Given the description of an element on the screen output the (x, y) to click on. 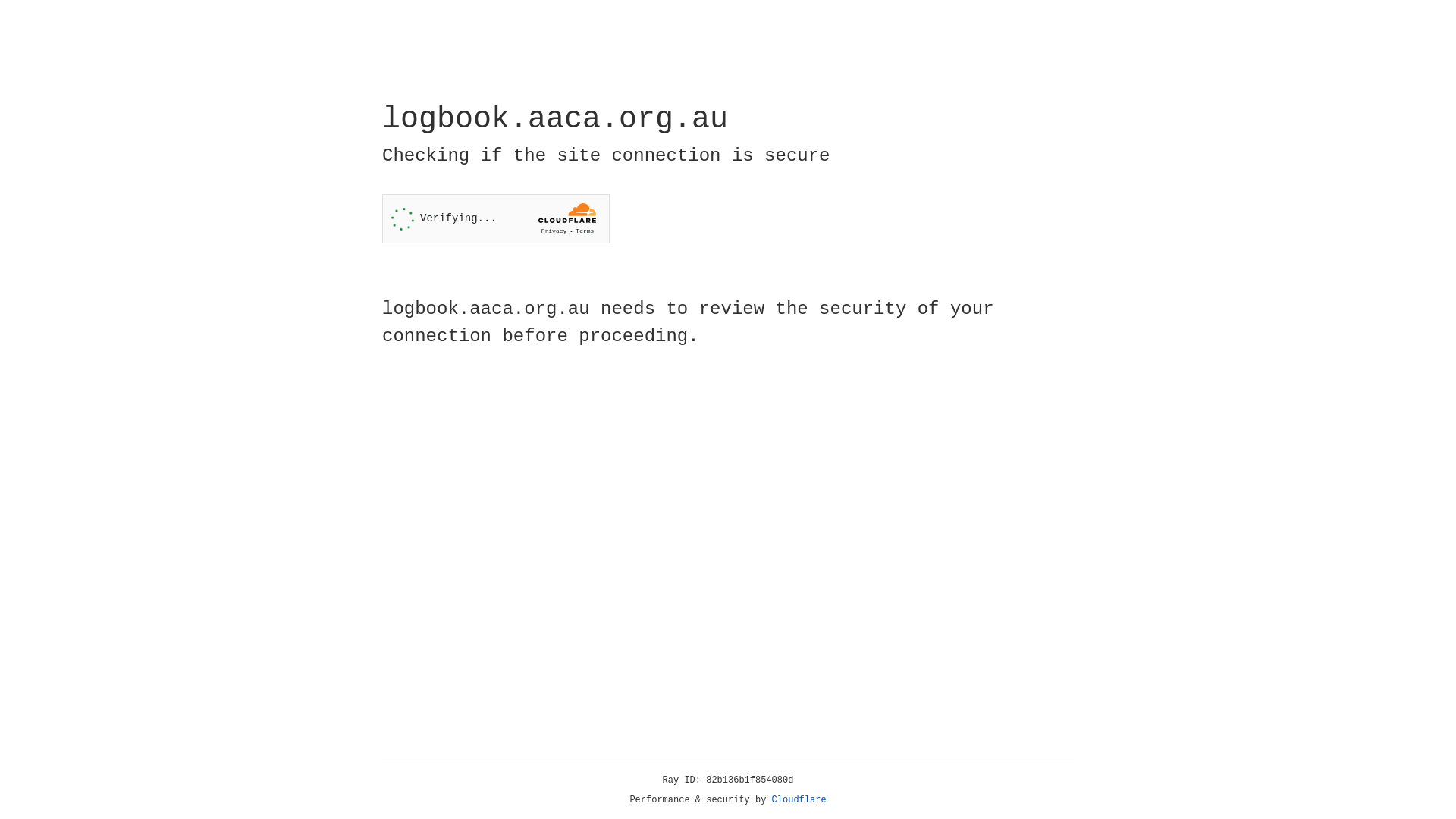
Cloudflare Element type: text (798, 799)
Widget containing a Cloudflare security challenge Element type: hover (495, 218)
